Given the description of an element on the screen output the (x, y) to click on. 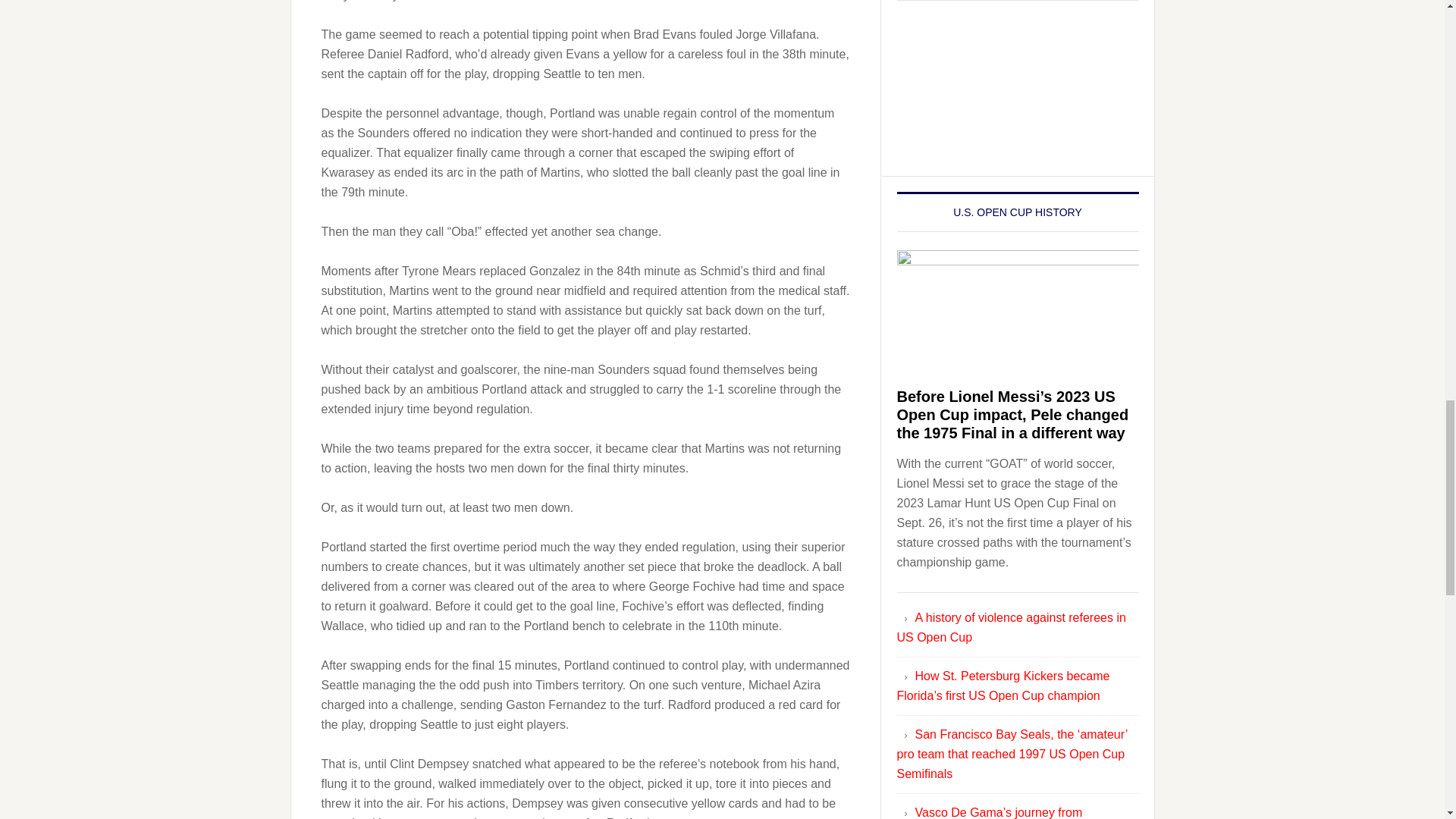
A history of violence against referees in US Open Cup (1010, 626)
YouTube video player (1017, 86)
